Given the description of an element on the screen output the (x, y) to click on. 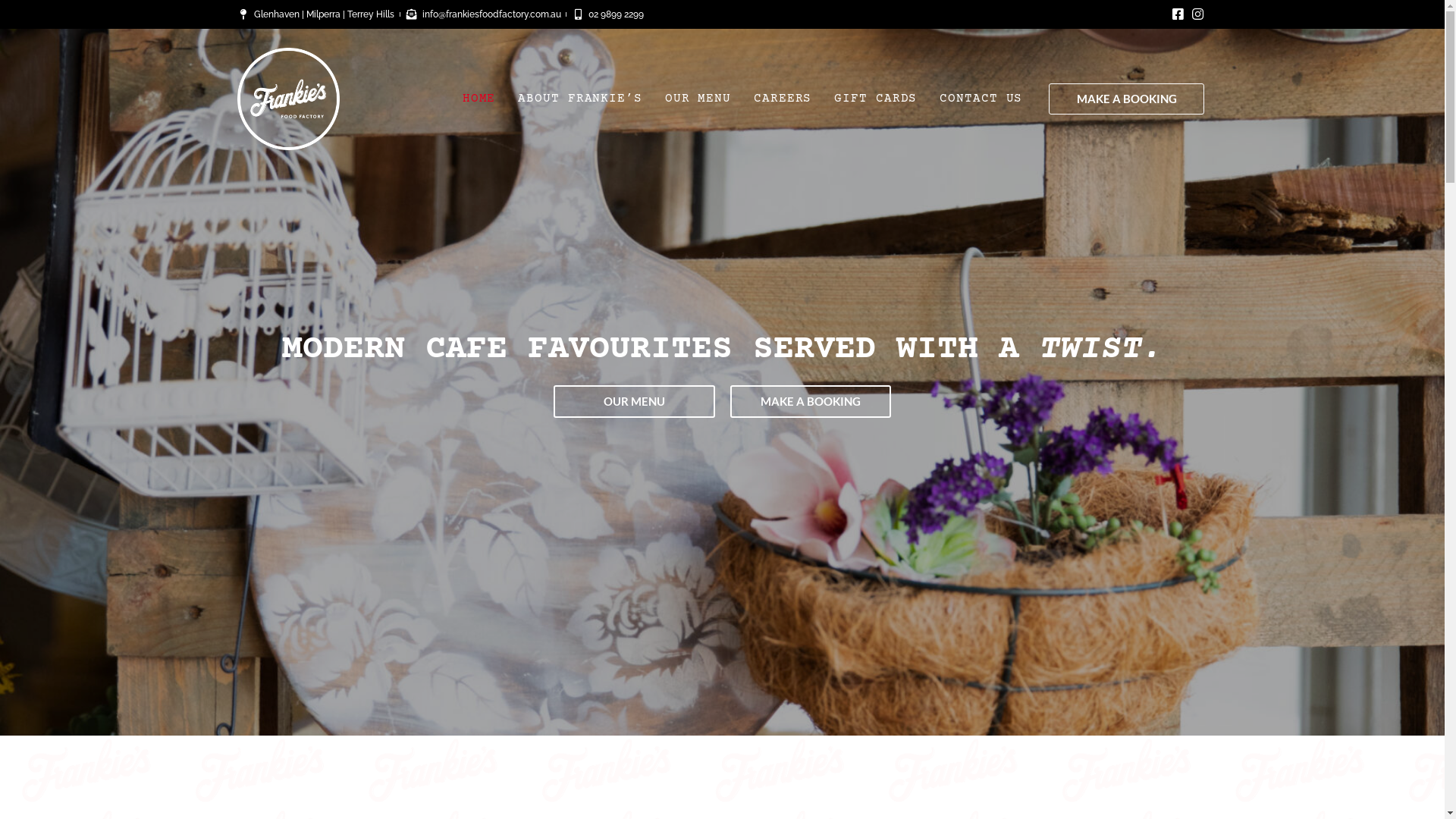
02 9899 2299 Element type: text (607, 14)
MAKE A BOOKING Element type: text (1126, 98)
HOME Element type: text (479, 98)
info@frankiesfoodfactory.com.au Element type: text (482, 14)
CAREERS Element type: text (782, 98)
GIFT CARDS Element type: text (875, 98)
OUR MENU Element type: text (697, 98)
OUR MENU Element type: text (634, 401)
CONTACT US Element type: text (980, 98)
MAKE A BOOKING Element type: text (810, 401)
